Given the description of an element on the screen output the (x, y) to click on. 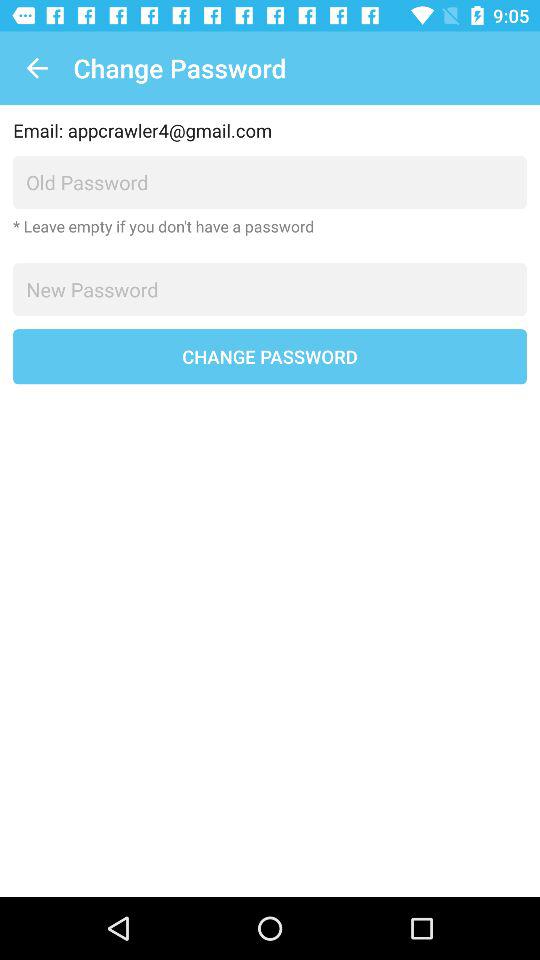
enter old password box (269, 182)
